Given the description of an element on the screen output the (x, y) to click on. 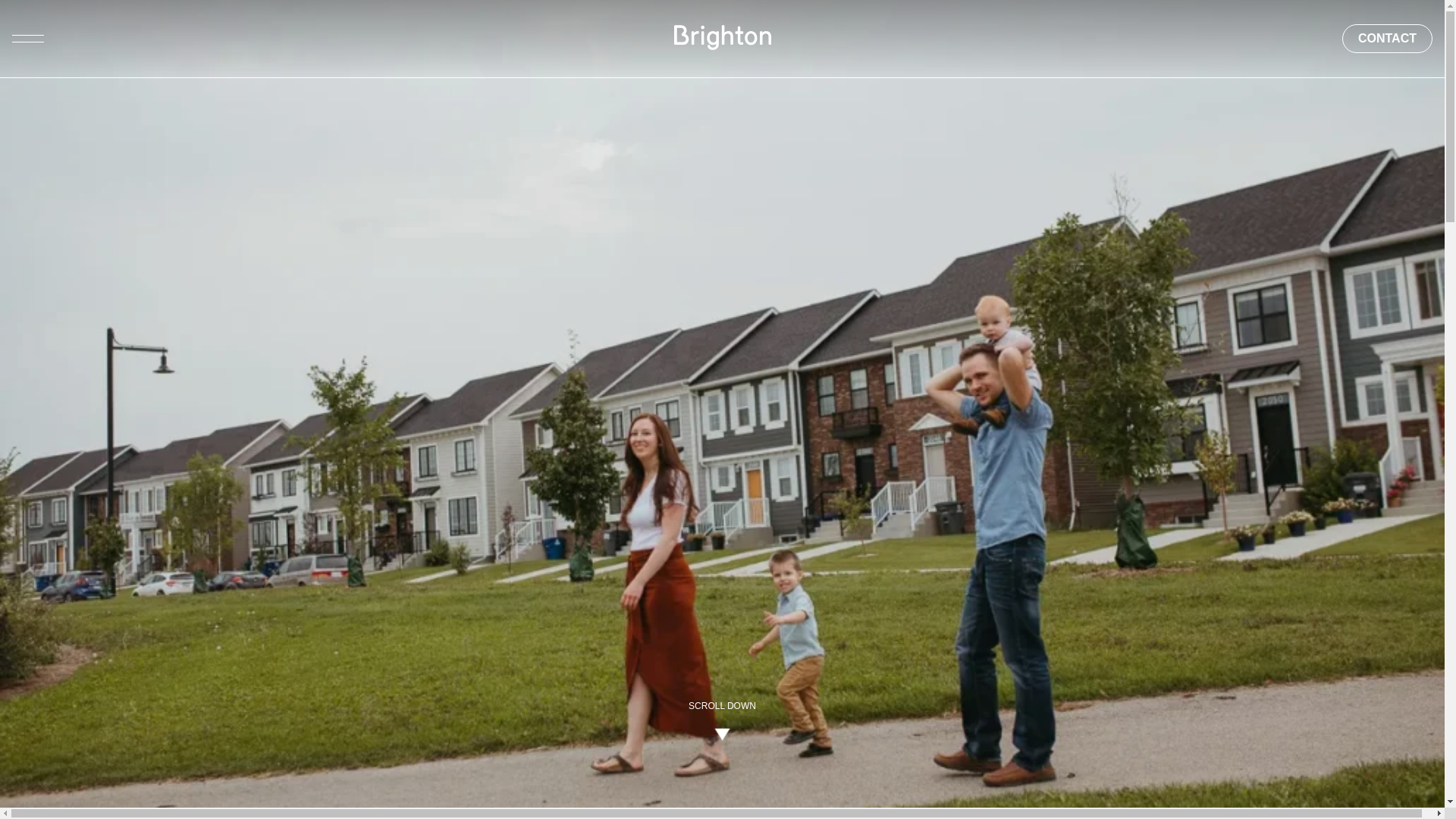
SCROLL DOWN (721, 718)
CONTACT (1387, 38)
SCROLL DOWN (721, 718)
